Given the description of an element on the screen output the (x, y) to click on. 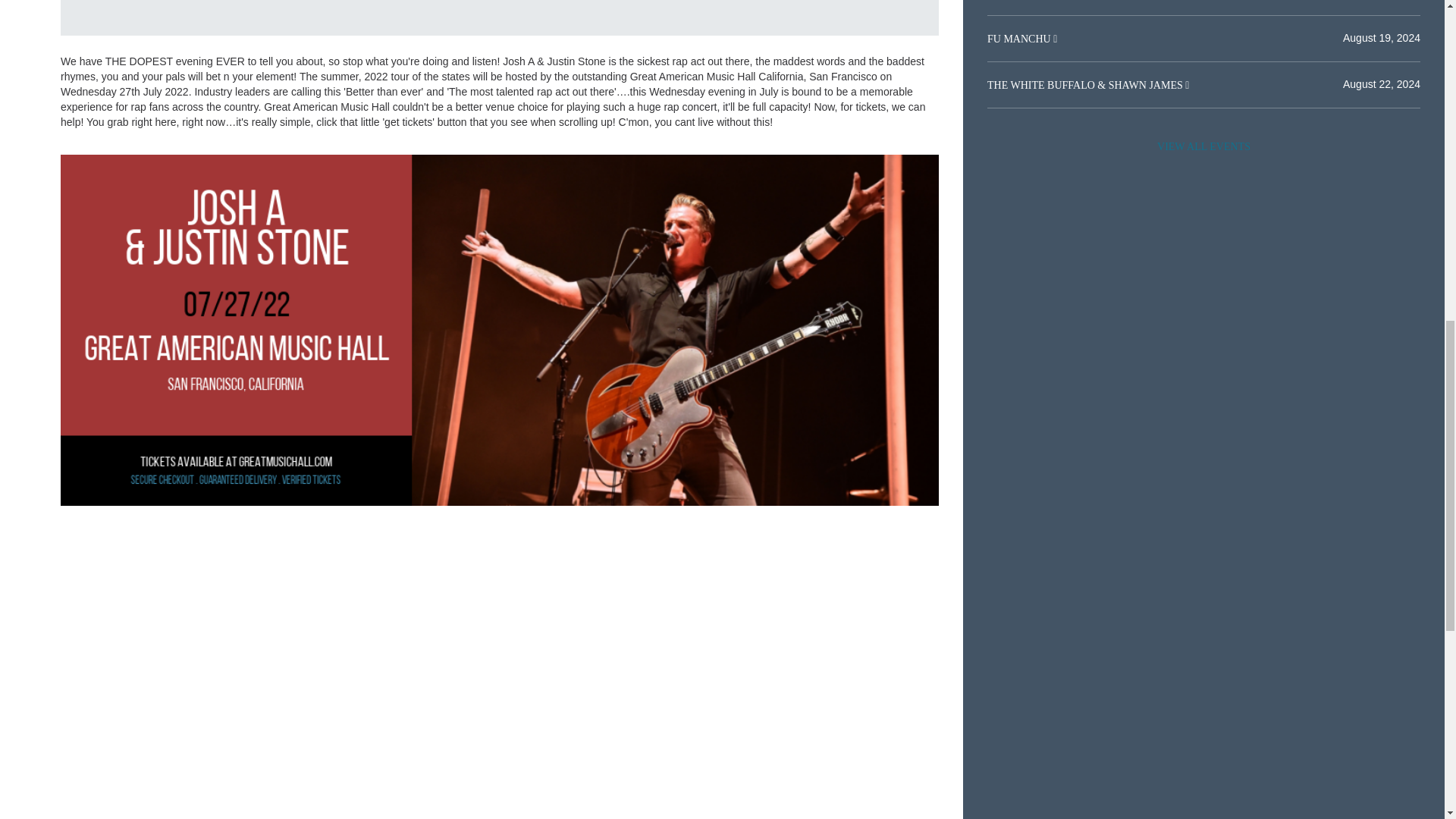
VIEW ALL EVENTS (1203, 146)
